Given the description of an element on the screen output the (x, y) to click on. 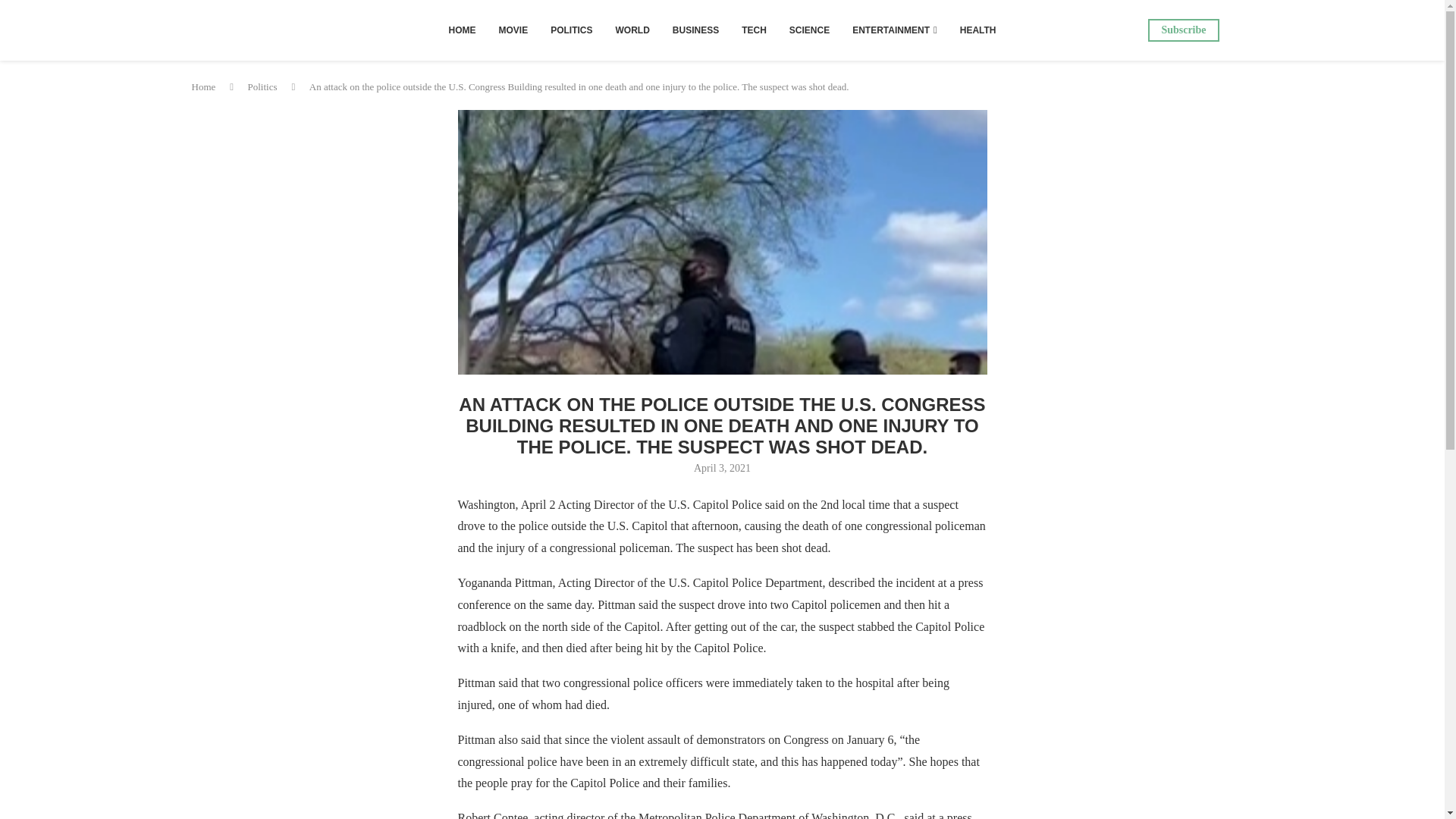
WORLD (632, 30)
MOVIE (512, 30)
Subscribe (1183, 29)
TECH (753, 30)
HEALTH (978, 30)
HOME (461, 30)
ENTERTAINMENT (895, 30)
SCIENCE (809, 30)
POLITICS (571, 30)
BUSINESS (695, 30)
